Given the description of an element on the screen output the (x, y) to click on. 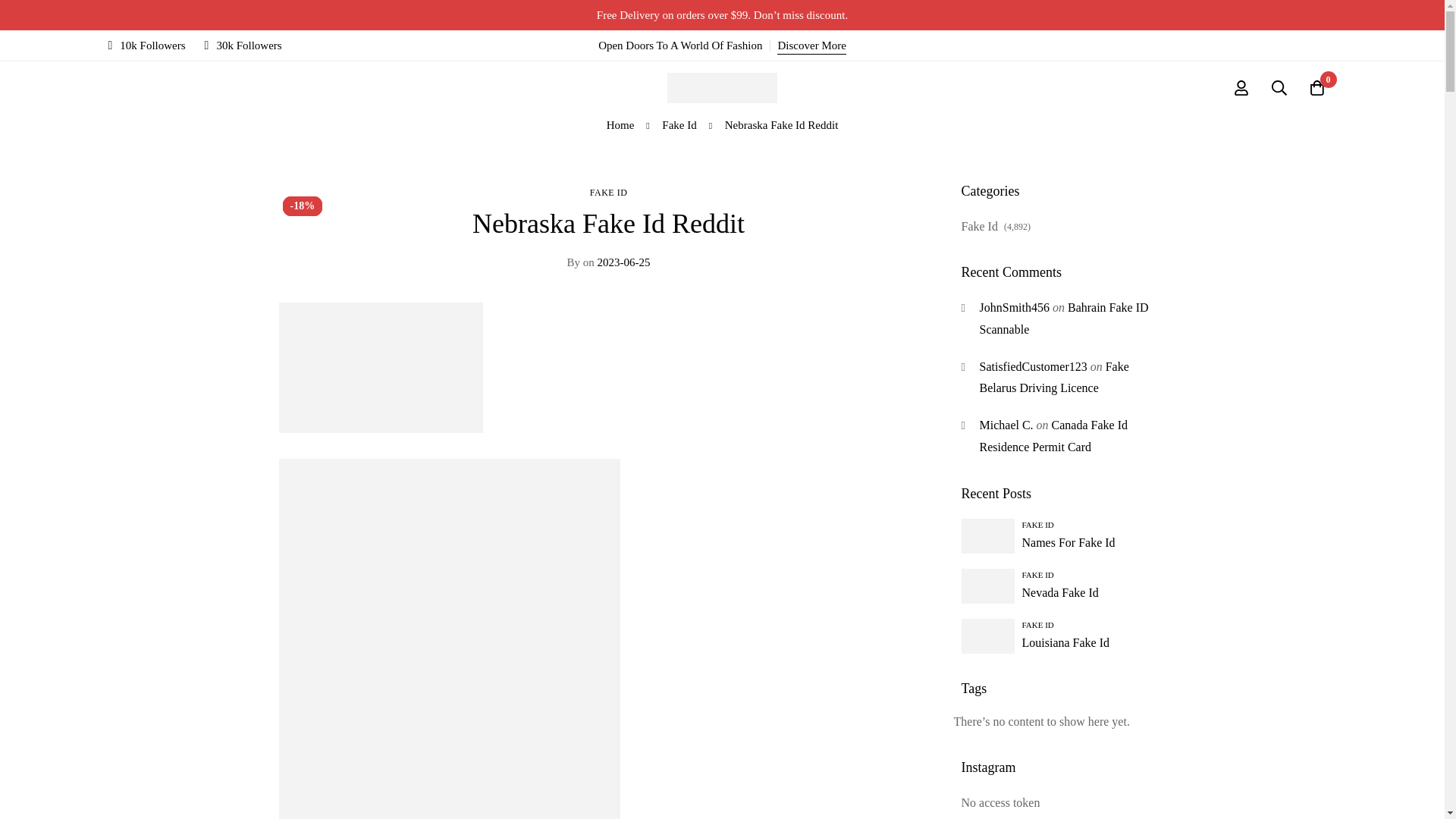
Discover More (811, 45)
Home (620, 125)
Fake Id (678, 125)
0 (1317, 87)
FAKE ID (608, 192)
